Given the description of an element on the screen output the (x, y) to click on. 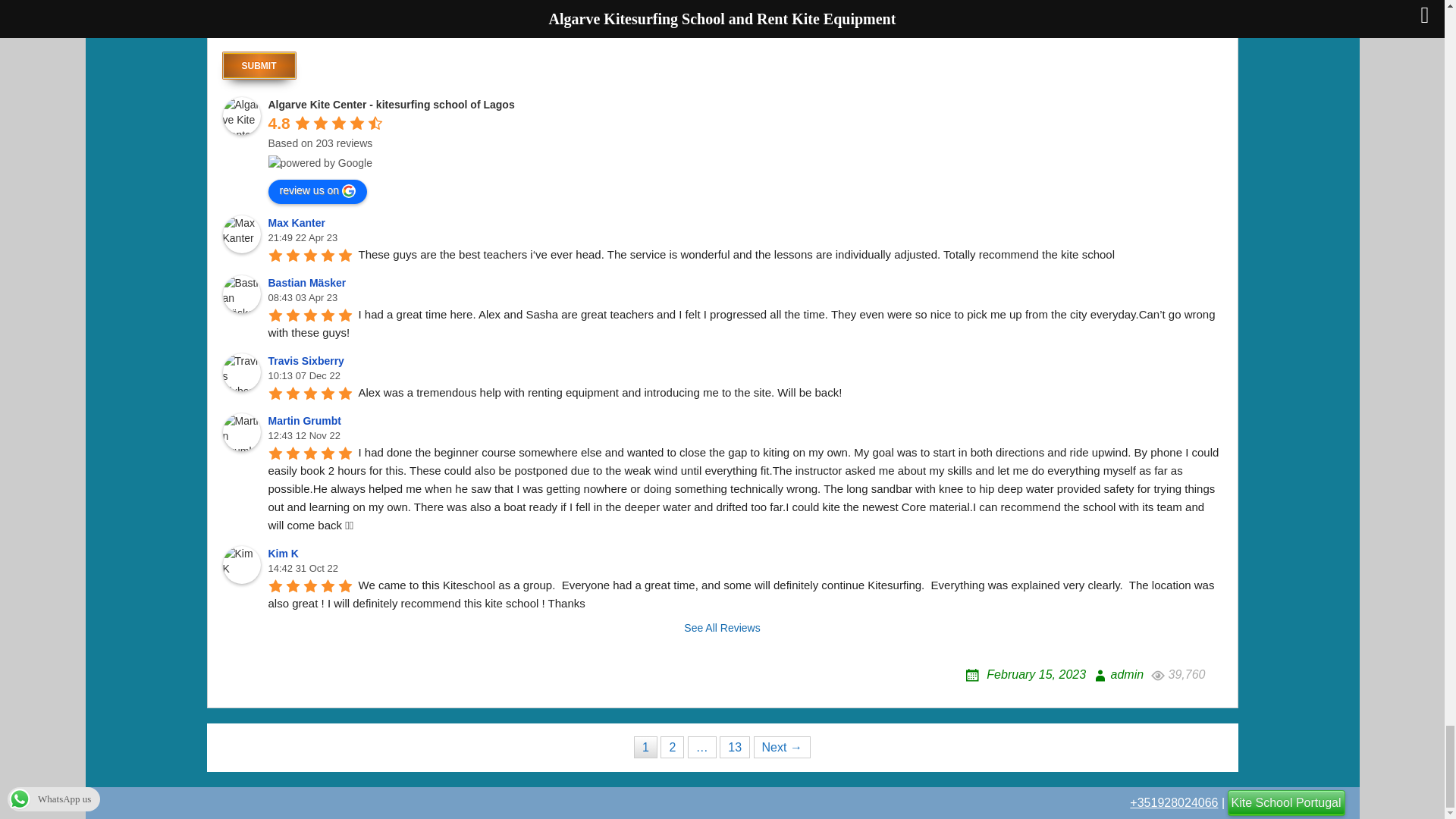
Max Kanter (241, 234)
Algarve Kite Center - kitesurfing school of Lagos (391, 104)
February 15, 2023 (1025, 674)
Travis Sixberry (308, 360)
Martin Grumbt (241, 432)
Max Kanter (298, 223)
Travis Sixberry (241, 371)
See All Reviews (722, 627)
admin (1116, 674)
Submit (258, 65)
Kim K (241, 564)
2 (672, 747)
review us on (317, 191)
Submit (258, 65)
February 15, 2023 (1025, 674)
